Given the description of an element on the screen output the (x, y) to click on. 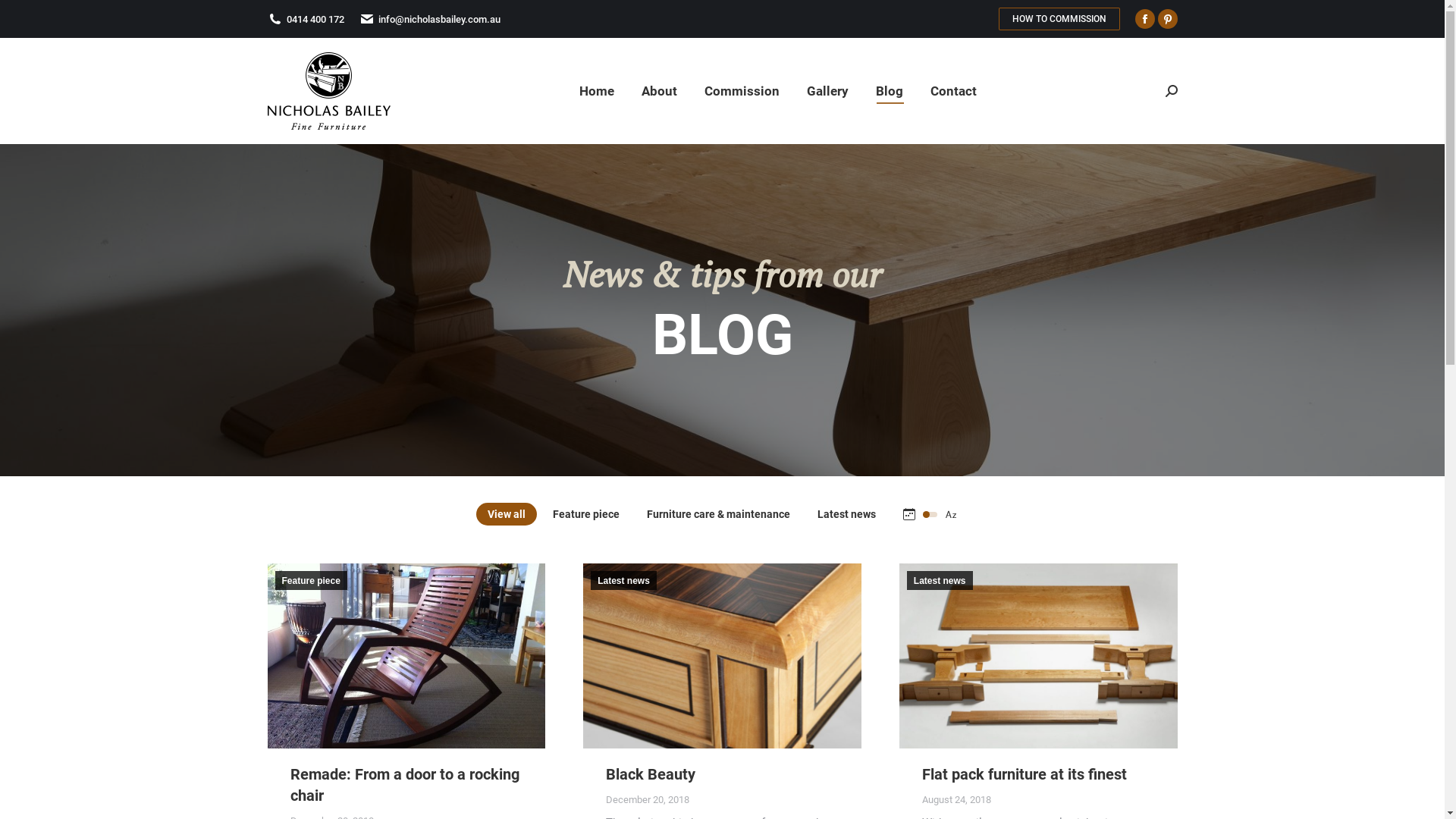
HOW TO COMMISSION Element type: text (1058, 18)
_MG_8700 Element type: hover (722, 655)
December 20, 2018 Element type: text (647, 799)
Commission Element type: text (740, 90)
Gallery Element type: text (827, 90)
Black Beauty Element type: text (650, 774)
Home Element type: text (596, 90)
Feature piece Element type: text (310, 580)
Latest news Element type: text (846, 513)
Feature piece Element type: text (585, 513)
0414 400 172 Element type: text (315, 19)
Flat Pack Element type: hover (1038, 655)
Re-made rocking chair Element type: hover (405, 655)
Furniture care & maintenance Element type: text (718, 513)
Latest news Element type: text (939, 580)
About Element type: text (659, 90)
Flat pack furniture at its finest Element type: text (1024, 774)
Go! Element type: text (23, 16)
August 24, 2018 Element type: text (956, 799)
Pinterest page opens in new window Element type: text (1166, 18)
Blog Element type: text (888, 90)
Remade: From a door to a rocking chair Element type: text (403, 784)
info@nicholasbailey.com.au Element type: text (438, 19)
View all Element type: text (506, 513)
Latest news Element type: text (623, 580)
Contact Element type: text (952, 90)
Facebook page opens in new window Element type: text (1144, 18)
